Given the description of an element on the screen output the (x, y) to click on. 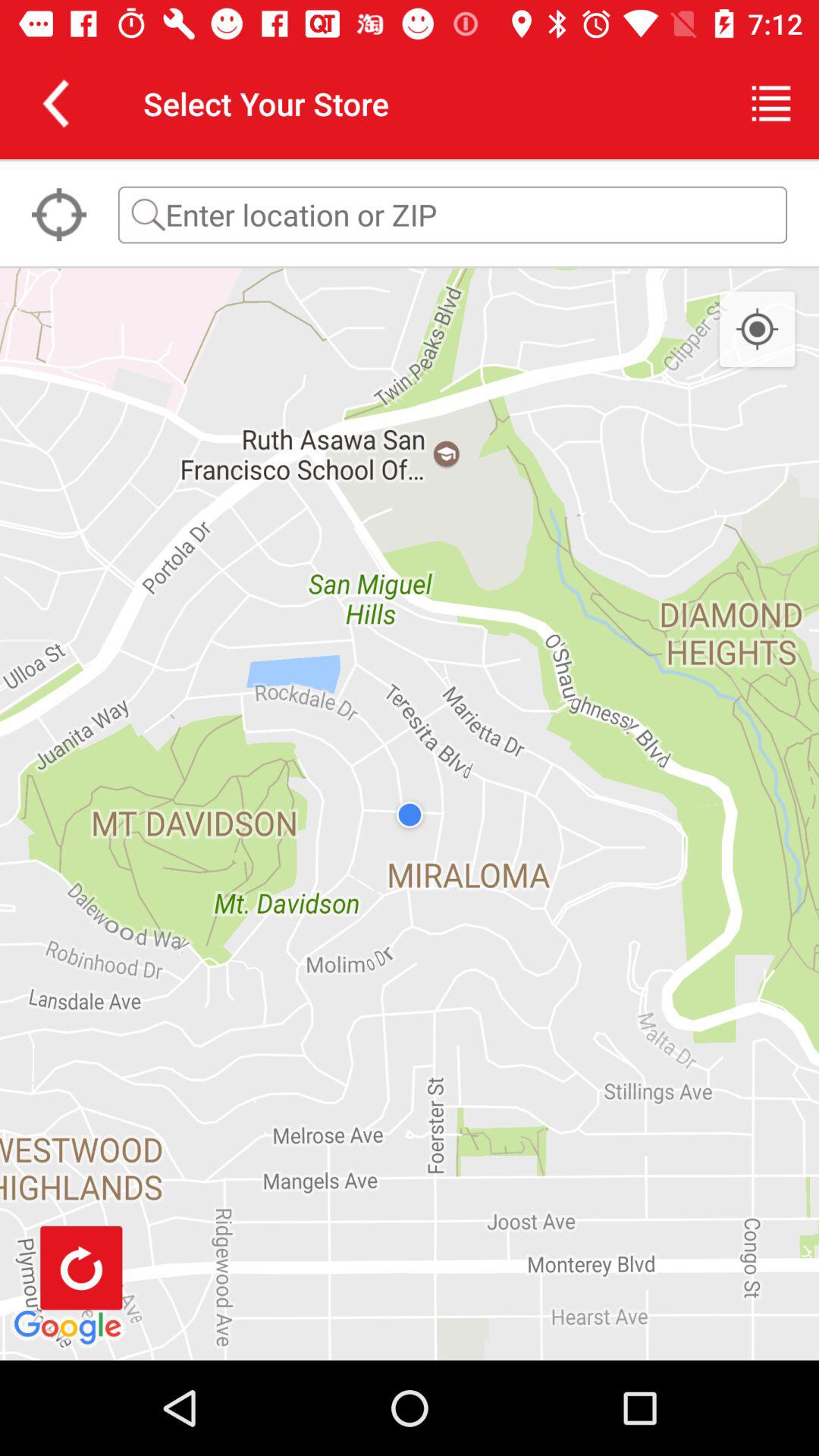
turn on item to the right of the select your store (771, 103)
